Given the description of an element on the screen output the (x, y) to click on. 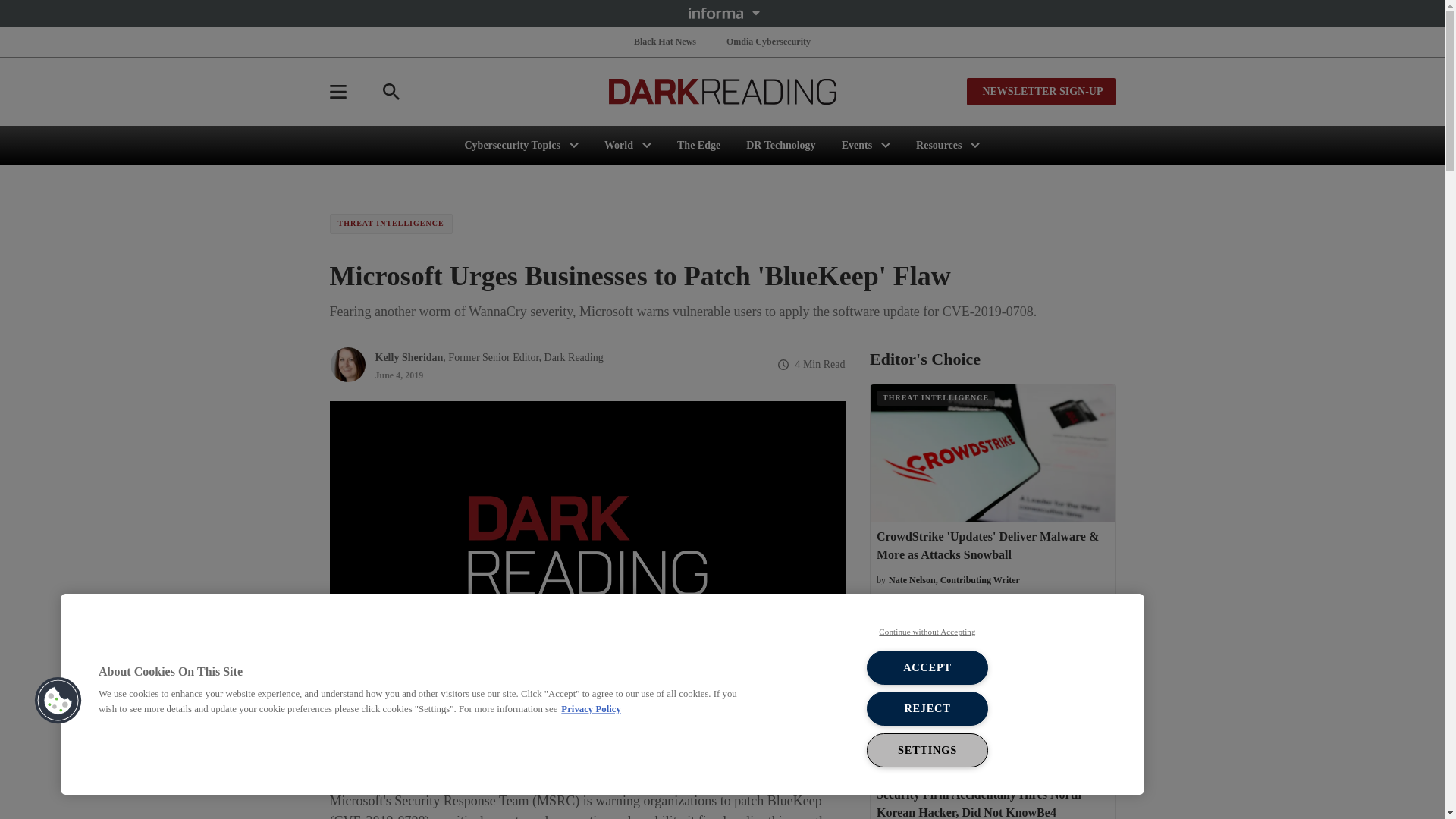
NEWSLETTER SIGN-UP (1040, 90)
Cookies Button (57, 700)
Dark Reading Logo (721, 91)
Black Hat News (664, 41)
Picture of Kelly Sheridan (347, 364)
Omdia Cybersecurity (768, 41)
